Given the description of an element on the screen output the (x, y) to click on. 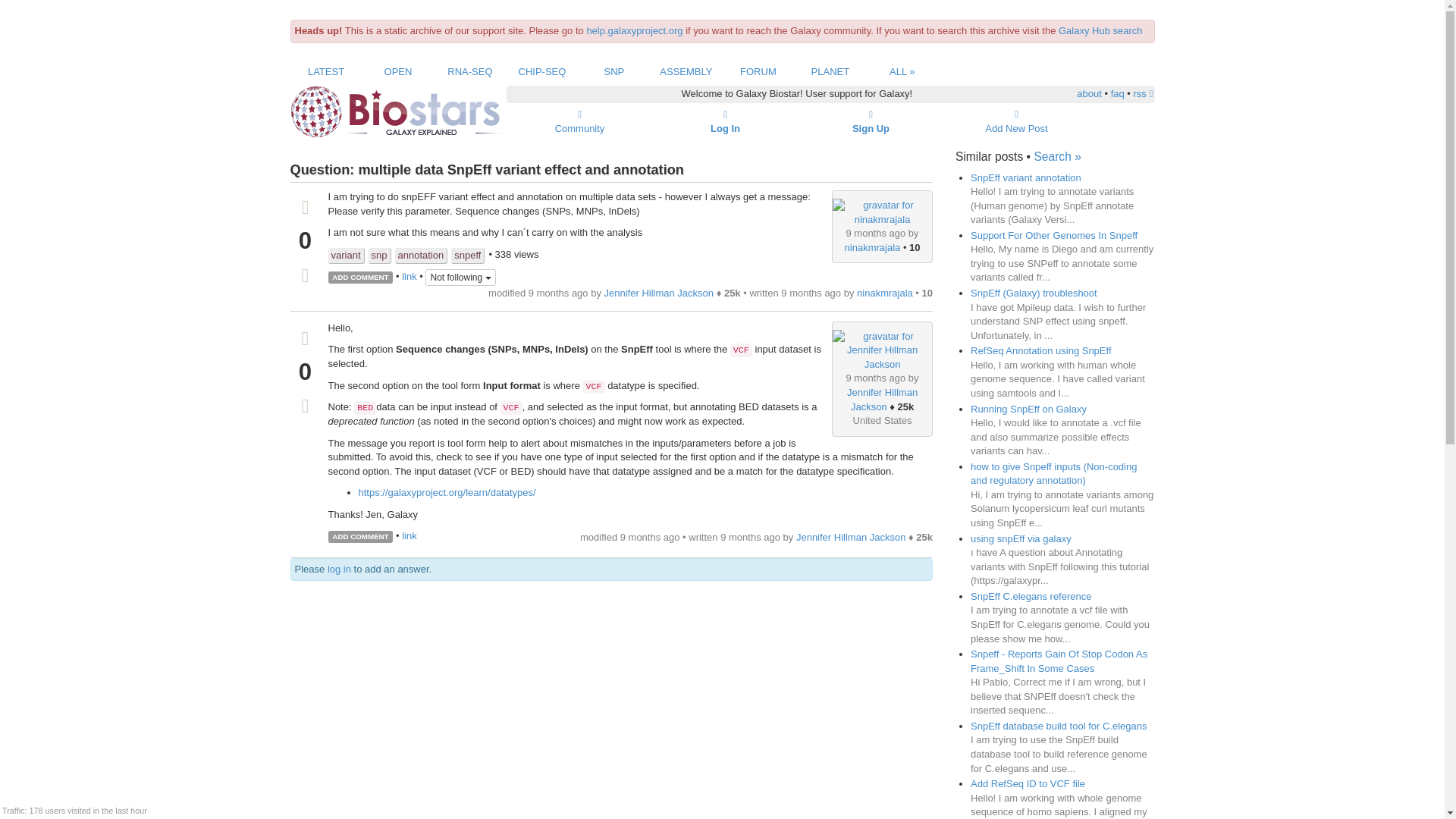
SNP (614, 71)
help.galaxyproject.org (634, 30)
snp (379, 256)
Community (579, 121)
CHIP-SEQ (542, 71)
about (1089, 93)
Add New Post (1015, 121)
RNA-SEQ (469, 71)
Log In (724, 121)
FORUM (757, 71)
variant (345, 256)
ASSEMBLY (685, 71)
annotation (420, 256)
Galaxy Hub search (1100, 30)
ninakmrajala (872, 247)
